Given the description of an element on the screen output the (x, y) to click on. 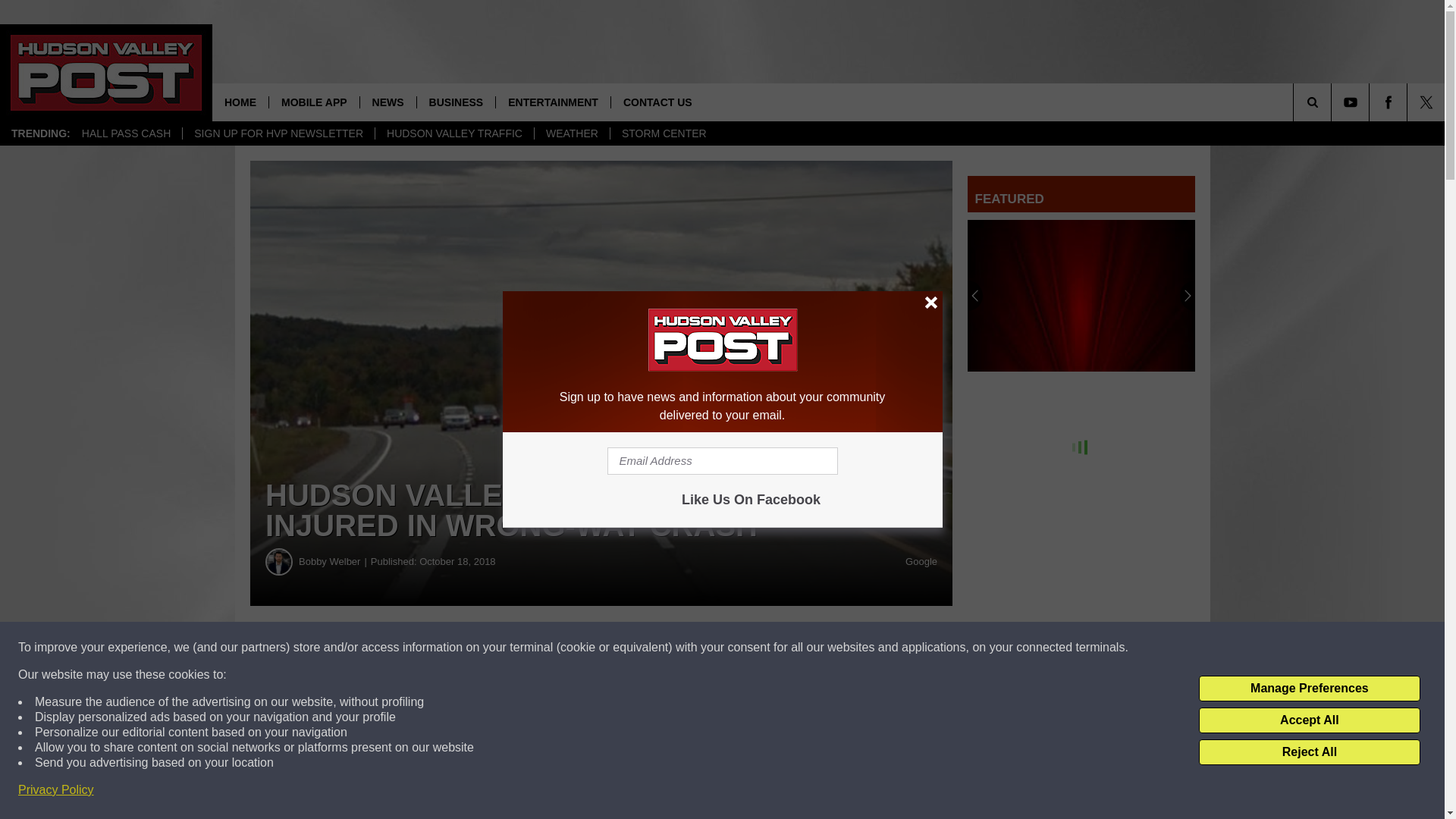
ENTERTAINMENT (552, 102)
HOME (239, 102)
WEATHER (572, 133)
Email Address (722, 461)
Manage Preferences (1309, 688)
MOBILE APP (313, 102)
CONTACT US (657, 102)
SIGN UP FOR HVP NEWSLETTER (278, 133)
Privacy Policy (55, 789)
BUSINESS (456, 102)
HUDSON VALLEY TRAFFIC (454, 133)
STORM CENTER (663, 133)
Share on Twitter (741, 647)
Reject All (1309, 751)
Share on Facebook (460, 647)
